Given the description of an element on the screen output the (x, y) to click on. 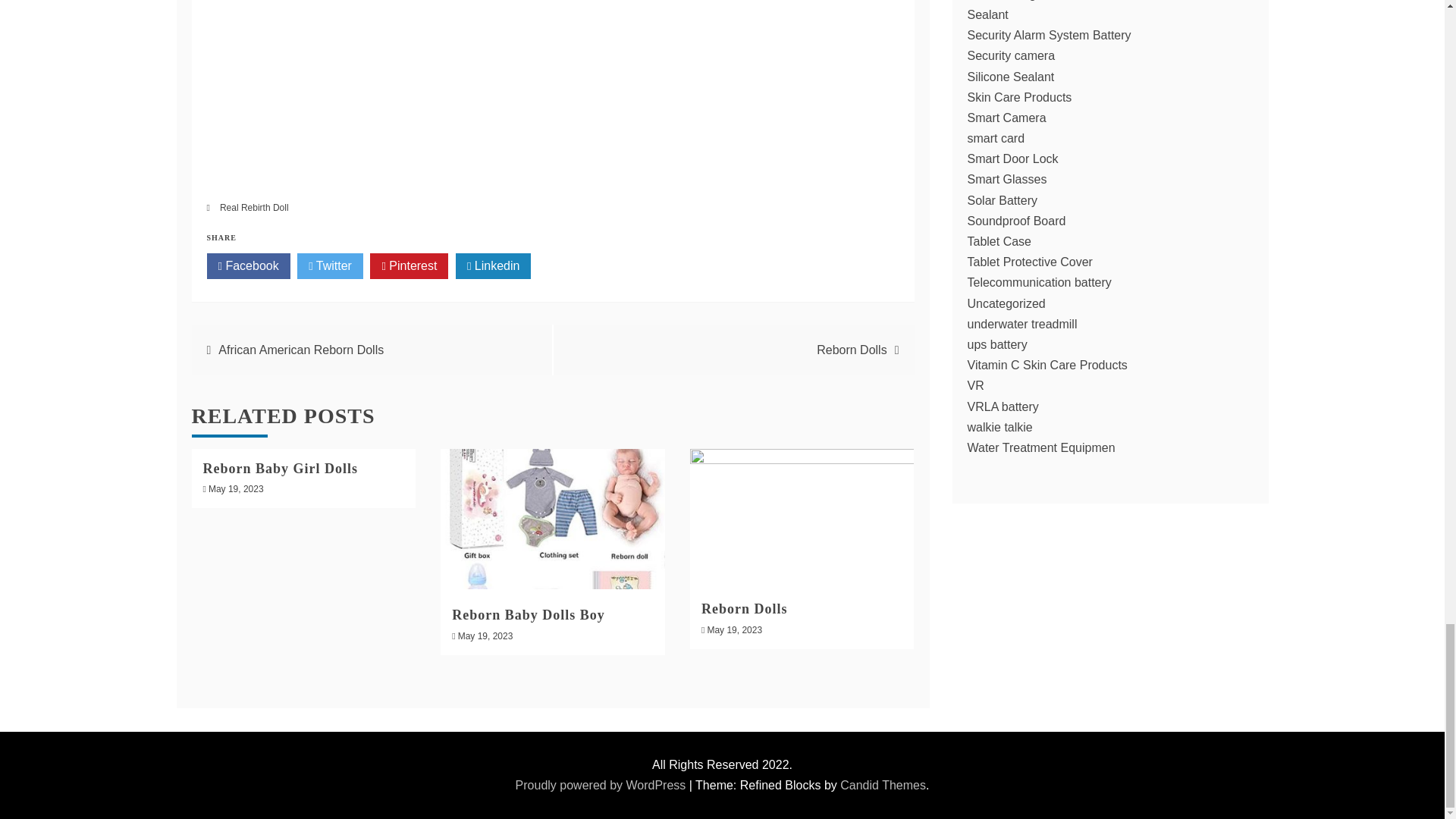
May 19, 2023 (235, 489)
Real Rebirth Doll (253, 207)
May 19, 2023 (485, 635)
May 19, 2023 (733, 629)
Linkedin (493, 266)
Pinterest (408, 266)
Reborn Dolls (744, 608)
Reborn Baby Dolls Boy (528, 614)
Twitter (329, 266)
Reborn Dolls (851, 349)
